Given the description of an element on the screen output the (x, y) to click on. 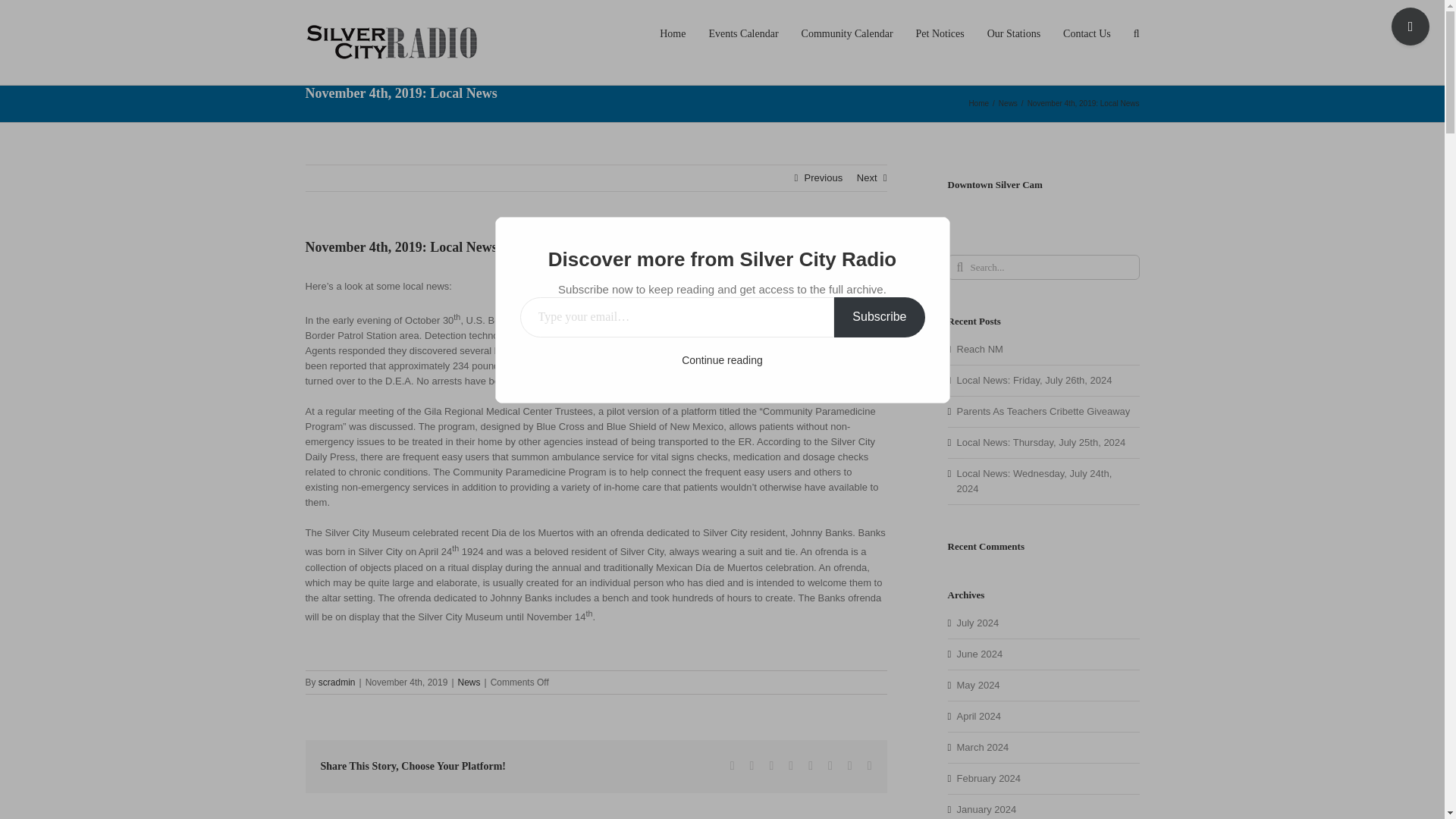
scradmin (336, 682)
Previous (824, 177)
News (469, 682)
Home (978, 103)
News (1007, 103)
Posts by scradmin (336, 682)
Community Calendar (847, 32)
Reach NM (979, 348)
Events Calendar (742, 32)
